Given the description of an element on the screen output the (x, y) to click on. 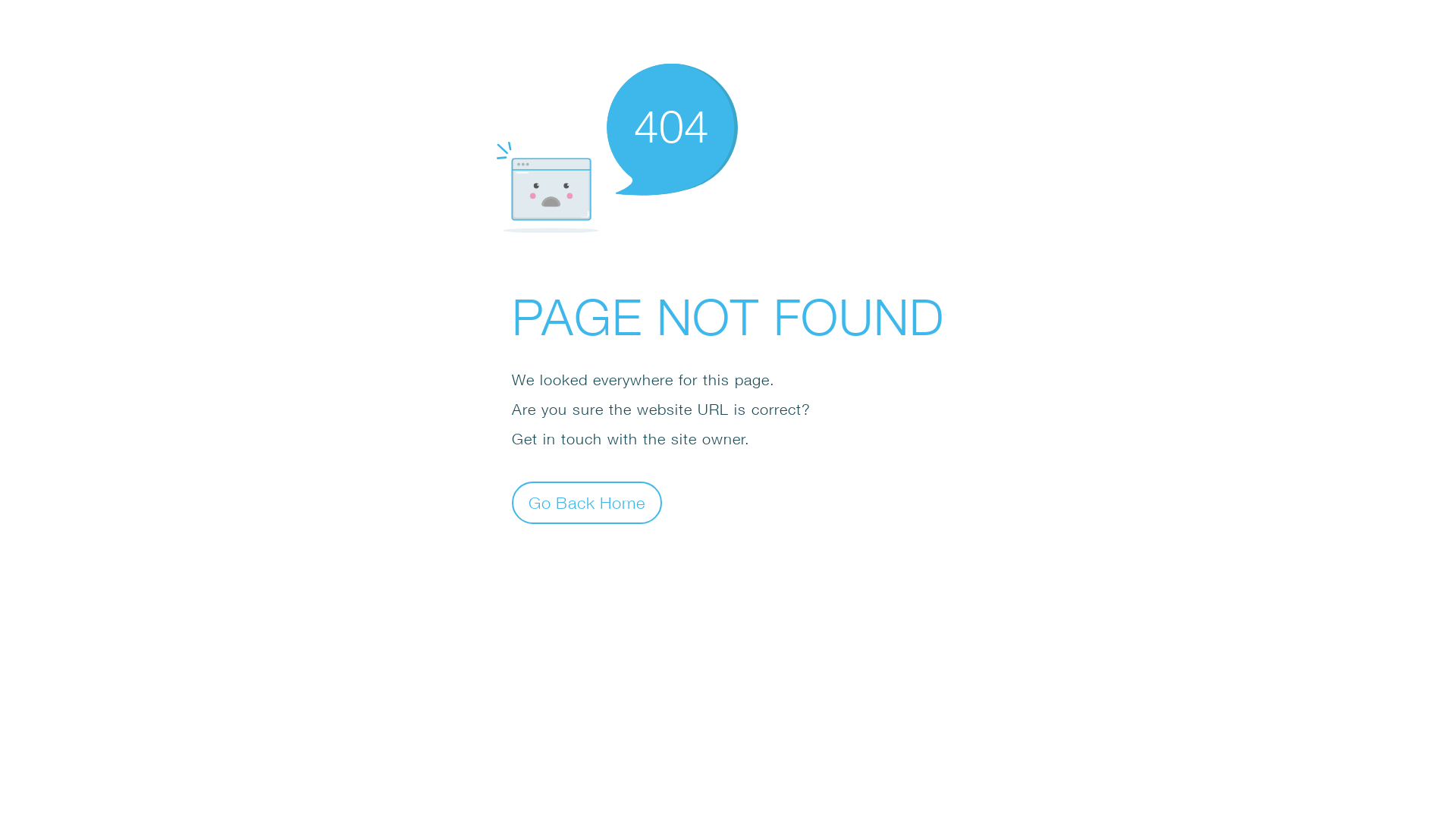
Go Back Home Element type: text (586, 502)
